Given the description of an element on the screen output the (x, y) to click on. 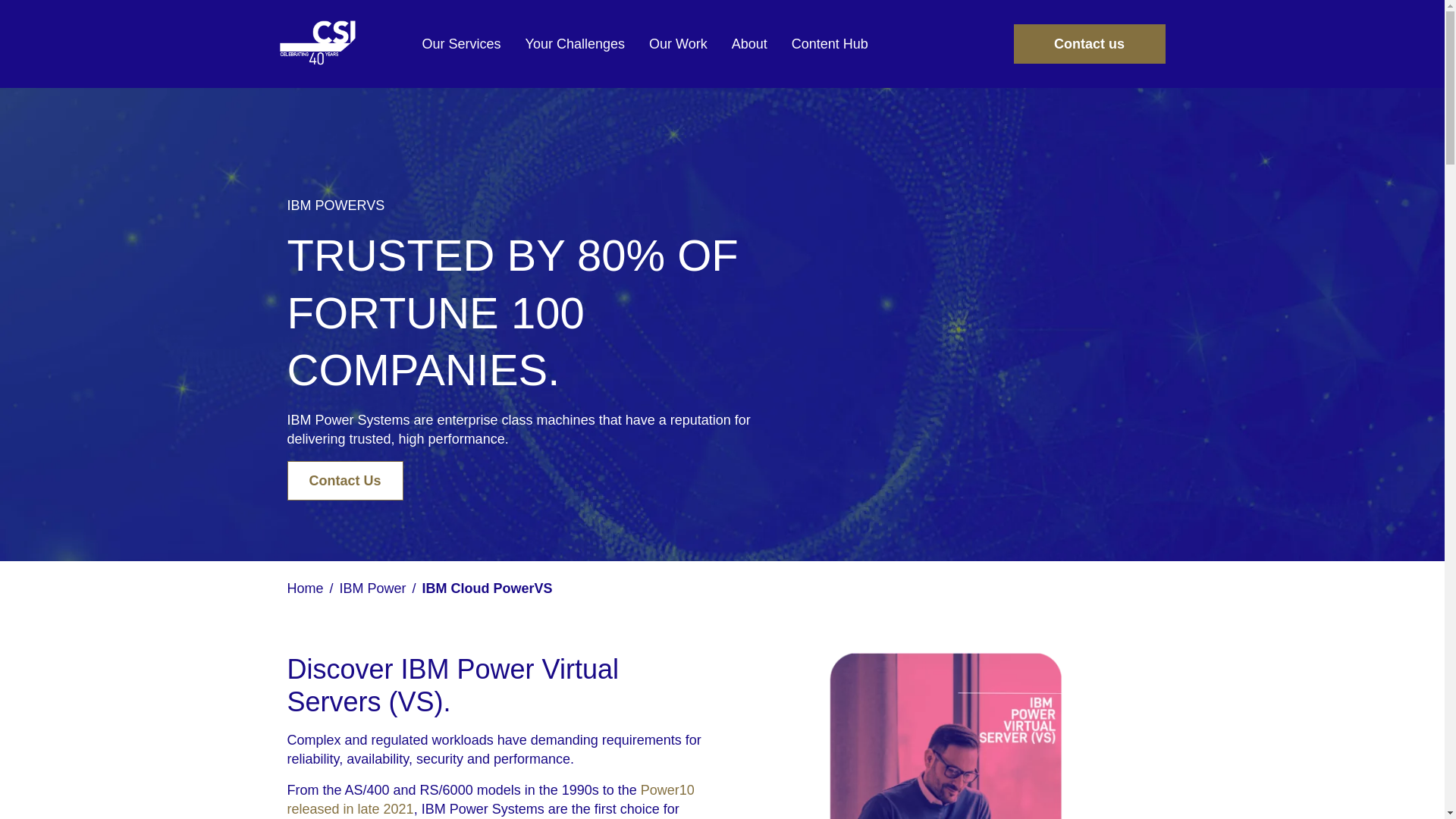
Go to CSI. (304, 588)
Our Services (460, 43)
Go to IBM Power. (372, 588)
